Given the description of an element on the screen output the (x, y) to click on. 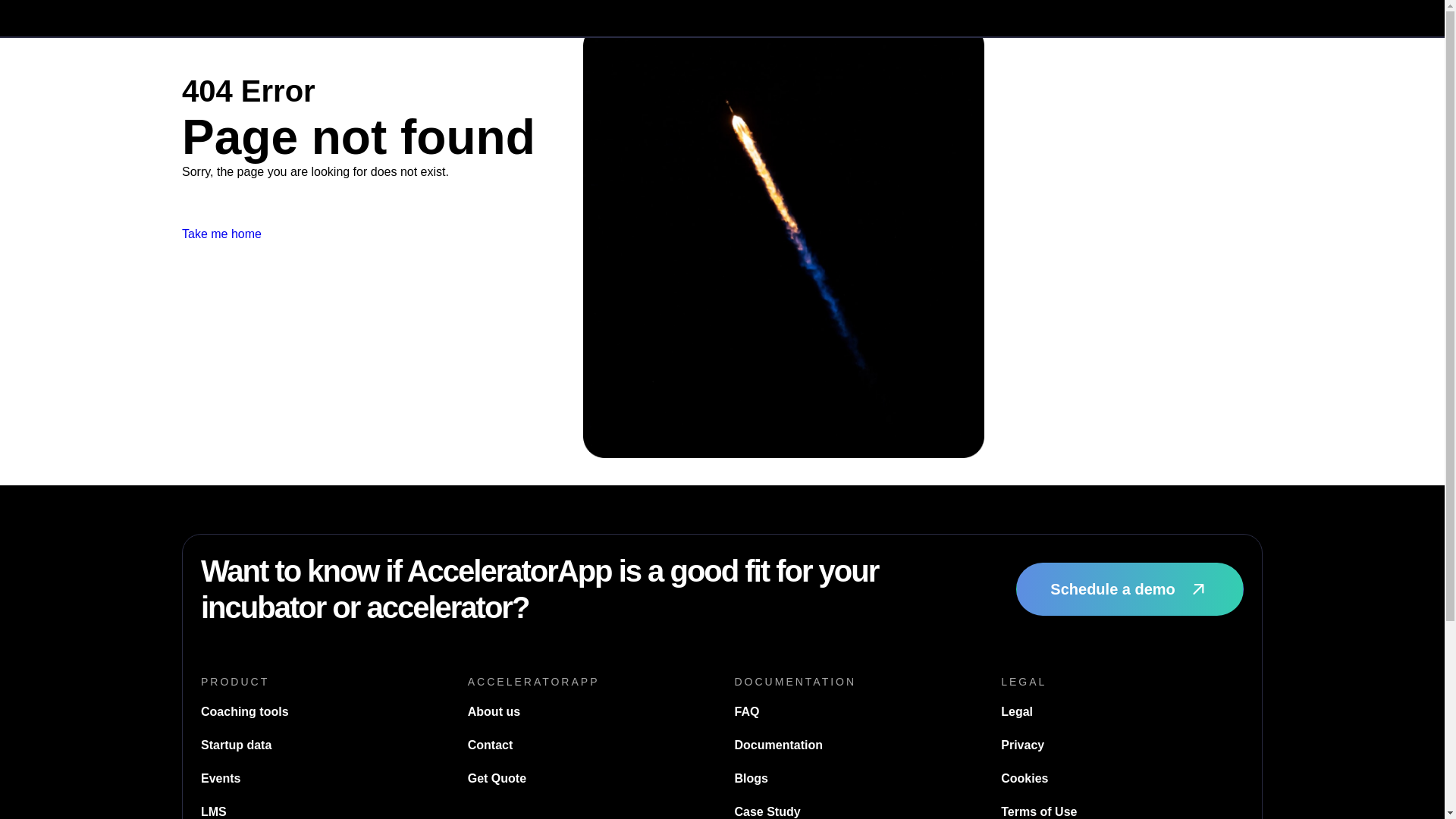
LMS (213, 811)
Blogs (750, 778)
Schedule a demo (1129, 588)
Coaching tools (244, 711)
About us (493, 711)
Case Study (766, 811)
Terms of Use (1039, 811)
Legal (1016, 711)
Cookies (1024, 778)
Documentation (777, 744)
Events (220, 778)
Take me home (222, 233)
Contact (490, 744)
Privacy (1022, 744)
Startup data (235, 744)
